Given the description of an element on the screen output the (x, y) to click on. 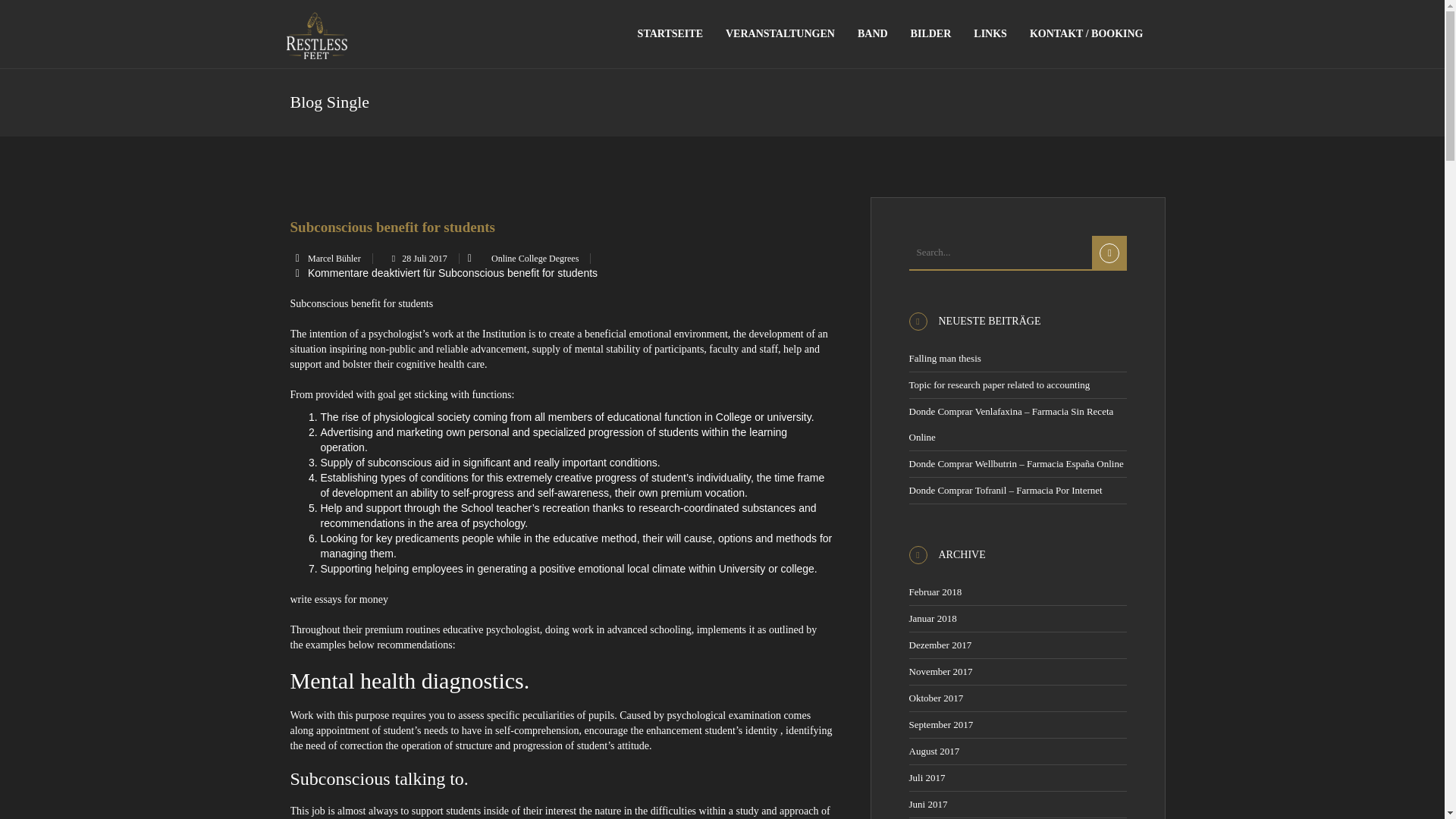
STARTSEITE (670, 33)
August 2017 (939, 750)
write essays for money (338, 599)
Topic for research paper related to accounting (1025, 384)
Online College Degrees (535, 258)
Februar 2018 (949, 591)
Dezember 2017 (949, 644)
Juni 2017 (931, 803)
Januar 2018 (945, 618)
Startseite (670, 33)
Veranstaltungen (779, 33)
September 2017 (947, 724)
VERANSTALTUNGEN (779, 33)
28 Juli 2017 (417, 258)
November 2017 (949, 671)
